Given the description of an element on the screen output the (x, y) to click on. 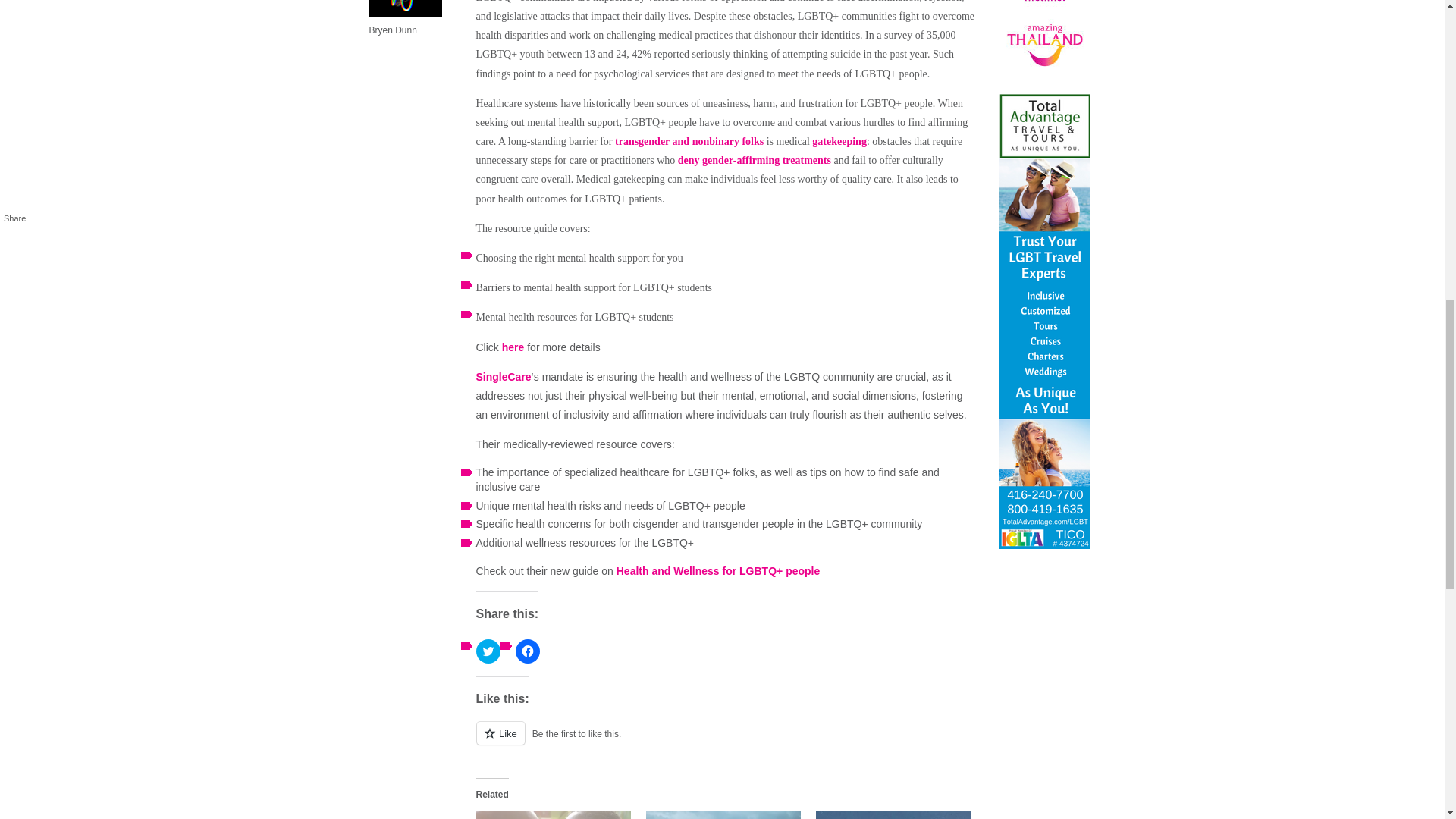
Click to share on Twitter (488, 651)
SingleCare (503, 377)
Like or Reblog (726, 741)
transgender and nonbinary folks (688, 141)
deny gender-affirming treatments (754, 160)
here (513, 346)
gatekeeping (839, 141)
Click to share on Facebook (527, 651)
